Given the description of an element on the screen output the (x, y) to click on. 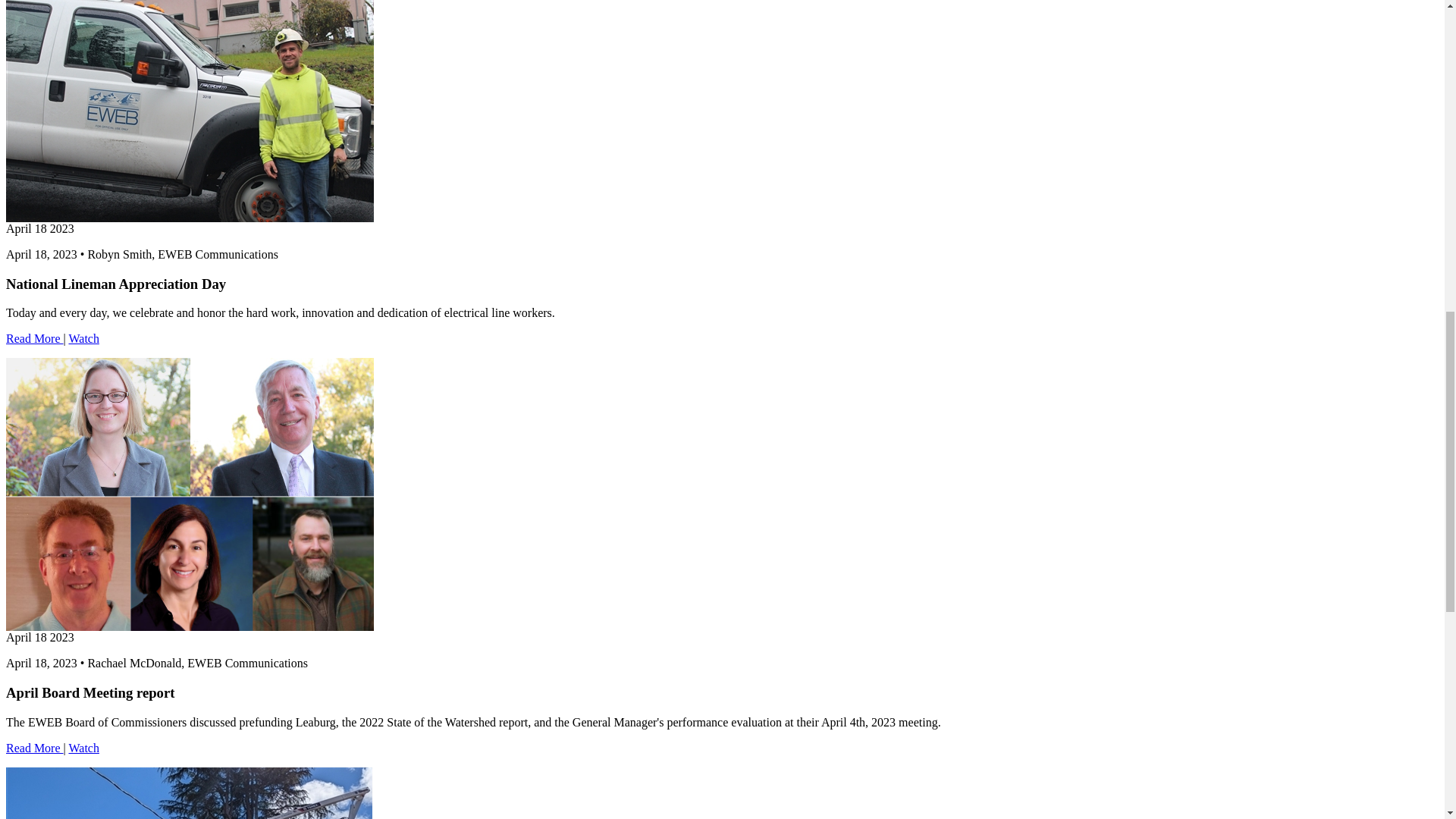
Read More (34, 338)
Watch (83, 338)
Read More (34, 748)
National Lineman Appreciation Day (34, 338)
Watch (83, 748)
April Board Meeting report (34, 748)
